Given the description of an element on the screen output the (x, y) to click on. 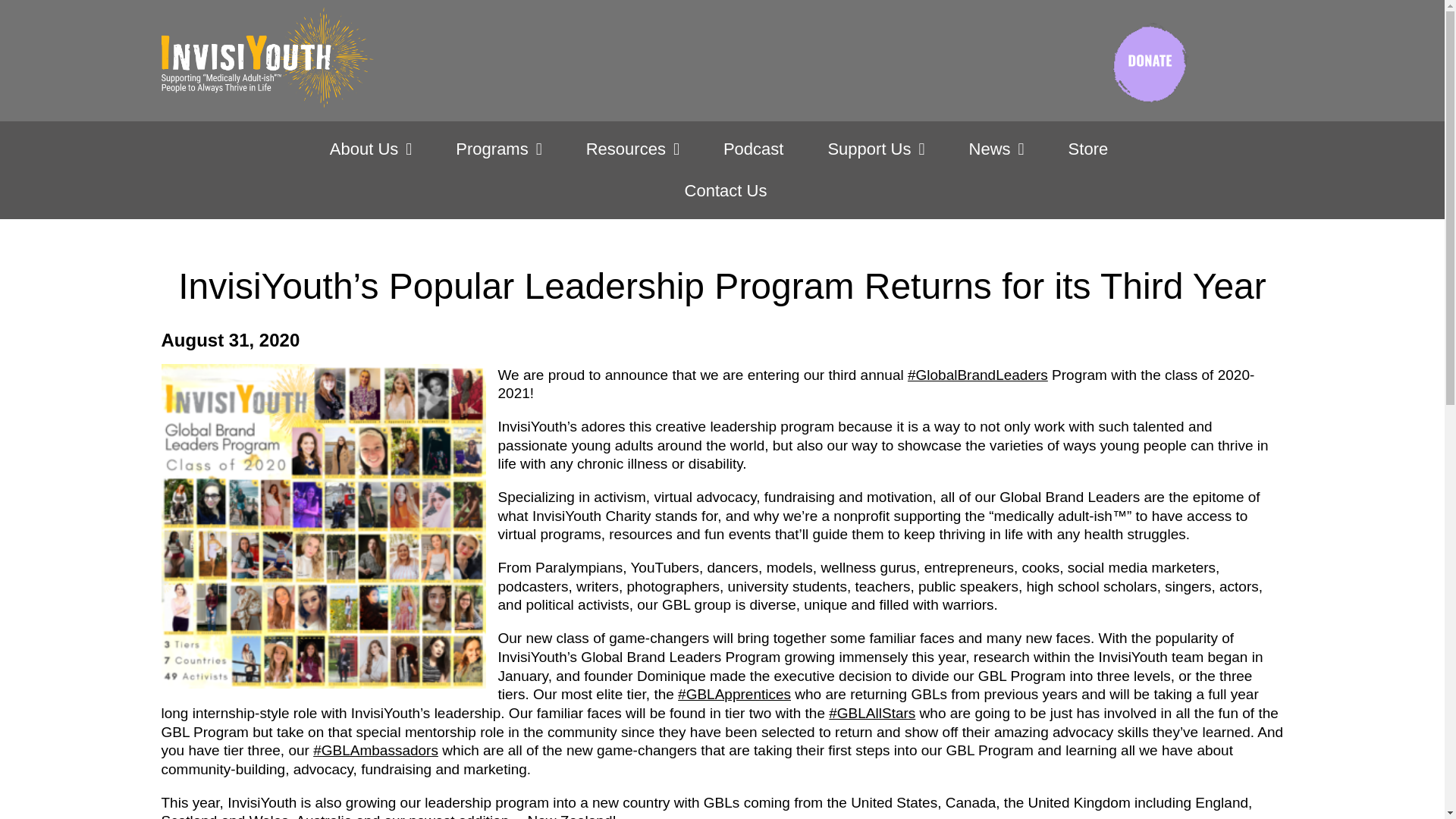
About Us (371, 149)
Resources (632, 149)
Programs (498, 149)
